Given the description of an element on the screen output the (x, y) to click on. 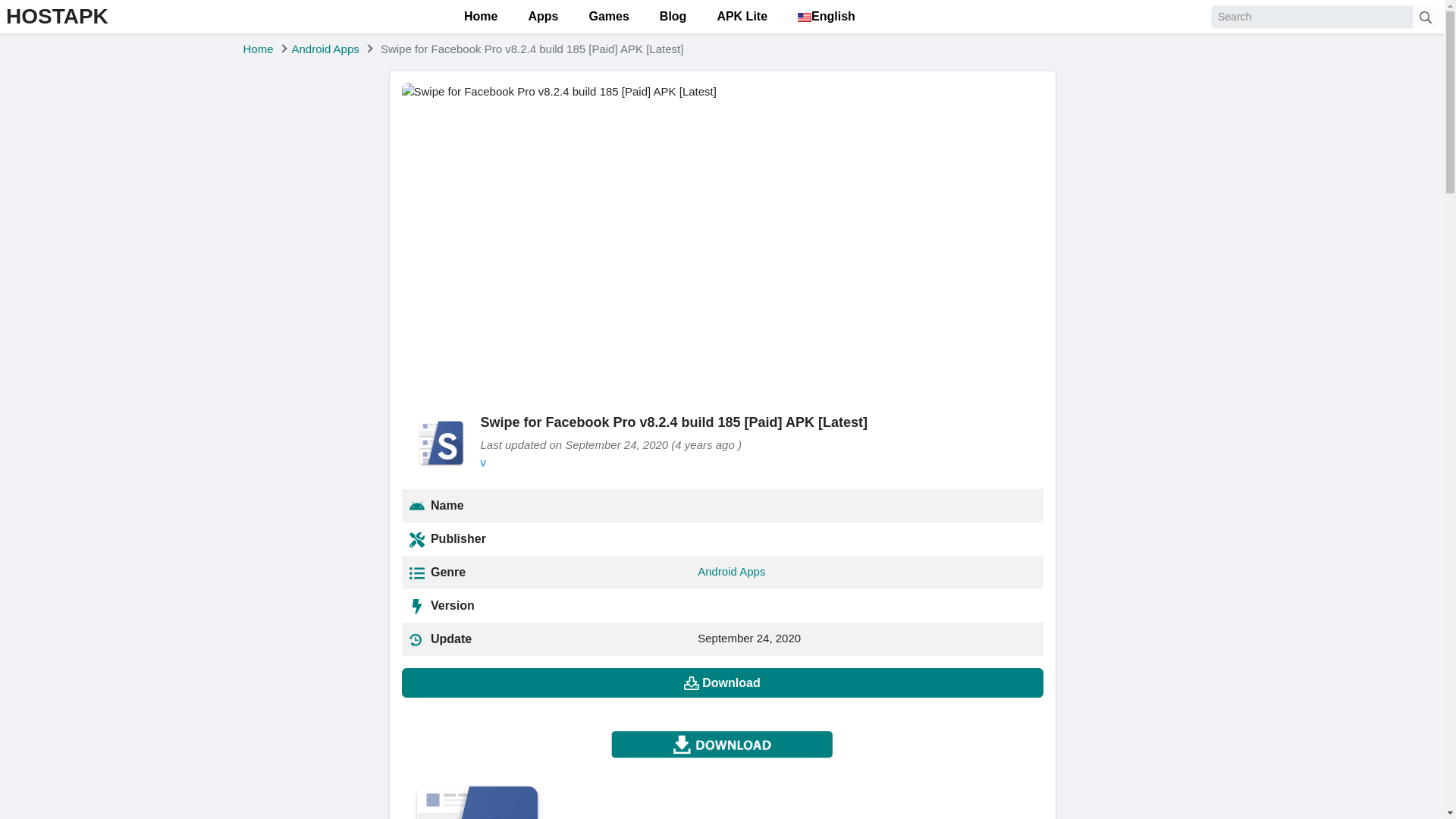
Download (722, 682)
Android Apps (325, 48)
Android Apps (731, 571)
APK Lite (742, 16)
English (803, 17)
Games (608, 16)
HOSTAPK (56, 15)
Home (258, 48)
English (826, 16)
Home (480, 16)
